Given the description of an element on the screen output the (x, y) to click on. 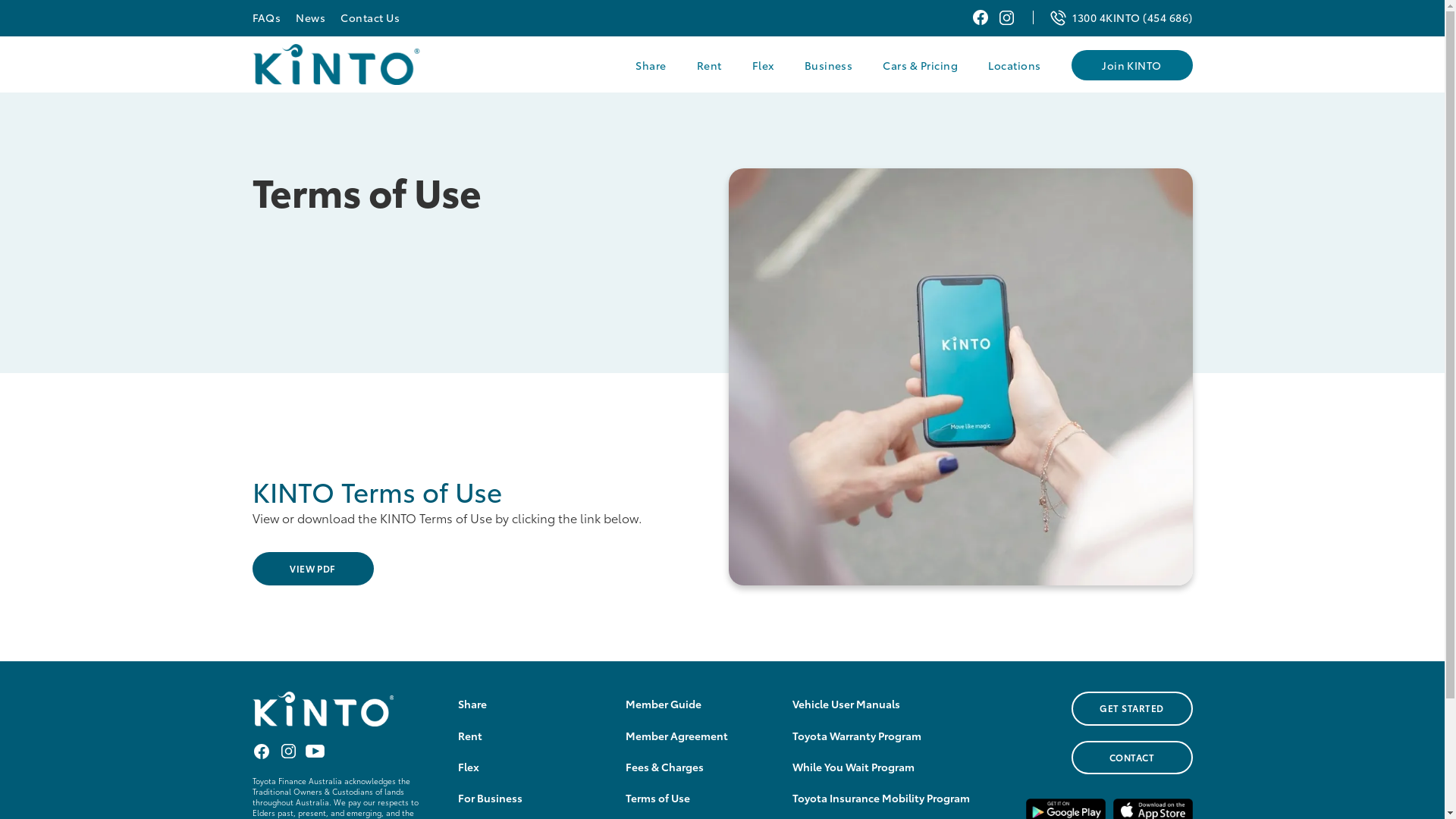
Facebook KINTO Australia Element type: text (260, 750)
Flex Element type: text (468, 766)
For Business Element type: text (490, 797)
Share Element type: text (472, 703)
Locations Element type: text (1013, 65)
VIEW PDF Element type: text (312, 568)
Terms of Use Element type: text (657, 797)
Vehicle User Manuals Element type: text (846, 703)
GET STARTED Element type: text (1131, 707)
Member Guide Element type: text (663, 703)
Rent Element type: text (470, 735)
Share Element type: text (650, 65)
Cars & Pricing Element type: text (919, 65)
CONTACT Element type: text (1131, 757)
While You Wait Program Element type: text (853, 766)
Toyota Warranty Program Element type: text (856, 735)
Contact Us Element type: text (369, 17)
Join KINTO Element type: text (1131, 65)
1300 4KINTO (454 686) Element type: text (1132, 17)
Instagram KINTO Australia Element type: text (288, 750)
Fees & Charges Element type: text (664, 766)
Facebook KINTO Australia Element type: text (979, 17)
Toyota Insurance Mobility Program Element type: text (880, 797)
Youtube KINTO Australia Element type: text (313, 750)
Member Agreement Element type: text (676, 735)
Rent Element type: text (709, 65)
Flex Element type: text (763, 65)
FAQs Element type: text (265, 17)
Instagram KINTO Australia Element type: text (1006, 17)
Business Element type: text (828, 65)
News Element type: text (310, 17)
